Given the description of an element on the screen output the (x, y) to click on. 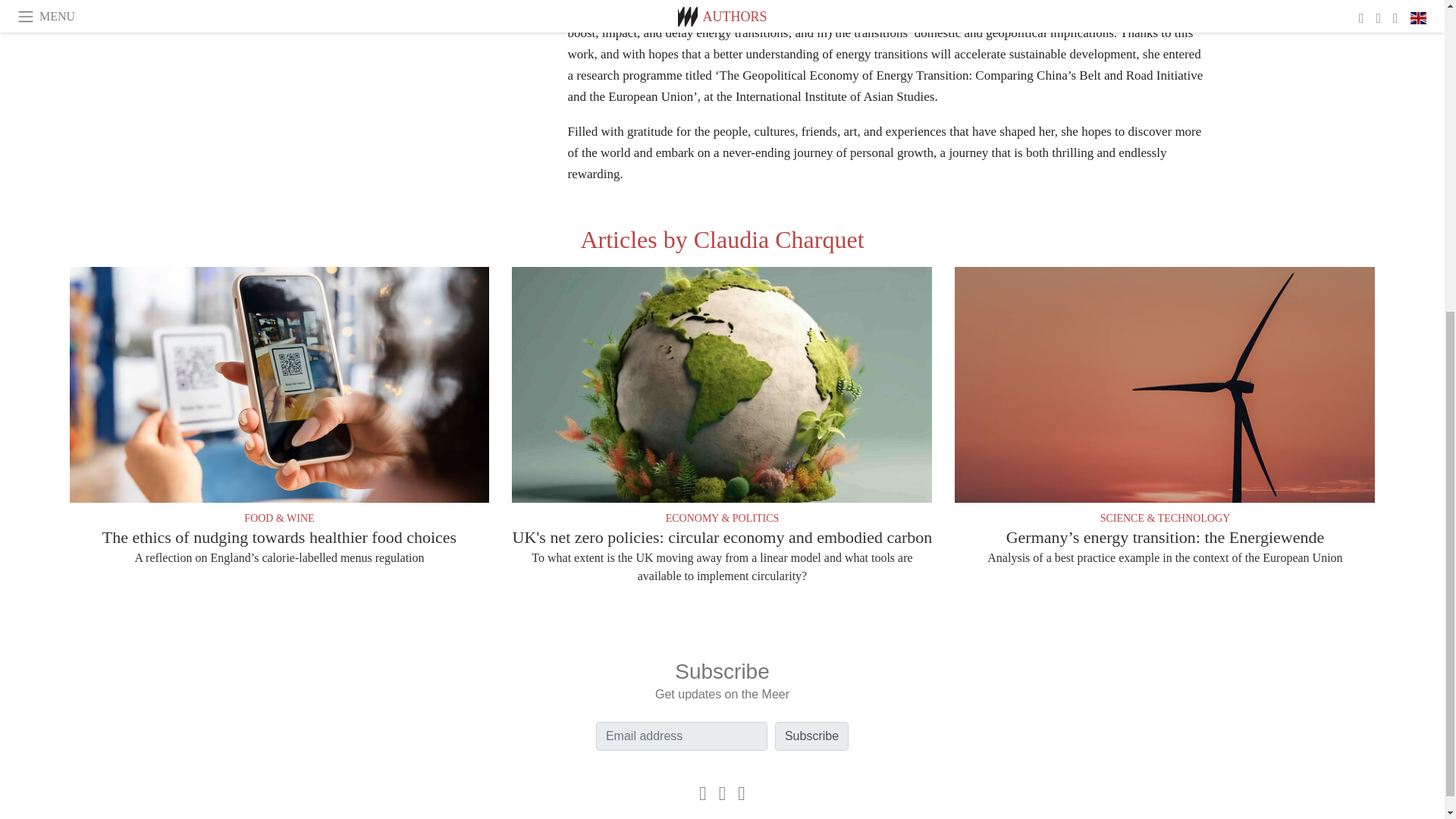
Subscribe (811, 736)
